Given the description of an element on the screen output the (x, y) to click on. 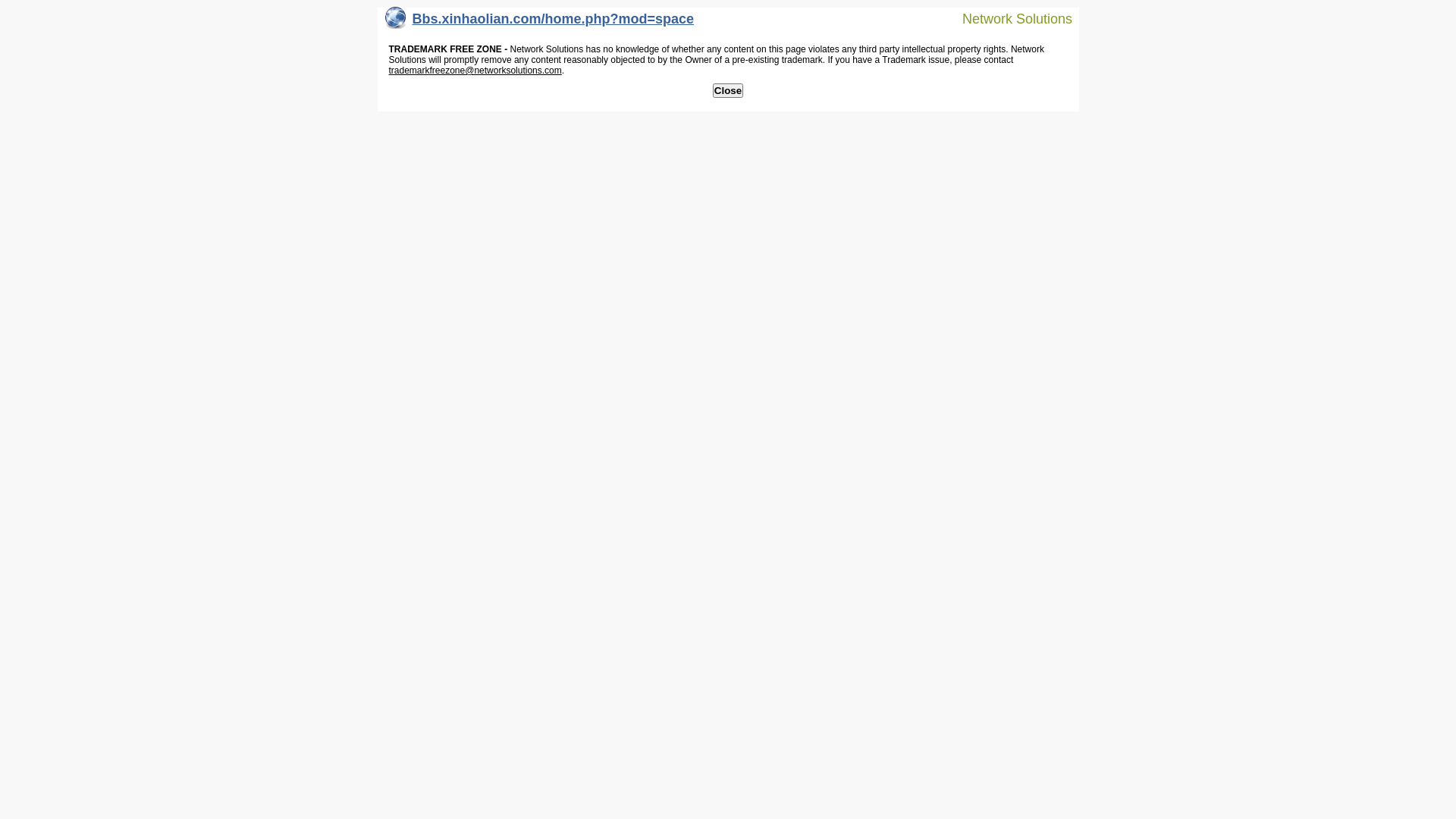
trademarkfreezone@networksolutions.com Element type: text (474, 70)
Network Solutions Element type: text (1007, 17)
Close Element type: text (727, 90)
Bbs.xinhaolian.com/home.php?mod=space Element type: text (539, 21)
